Given the description of an element on the screen output the (x, y) to click on. 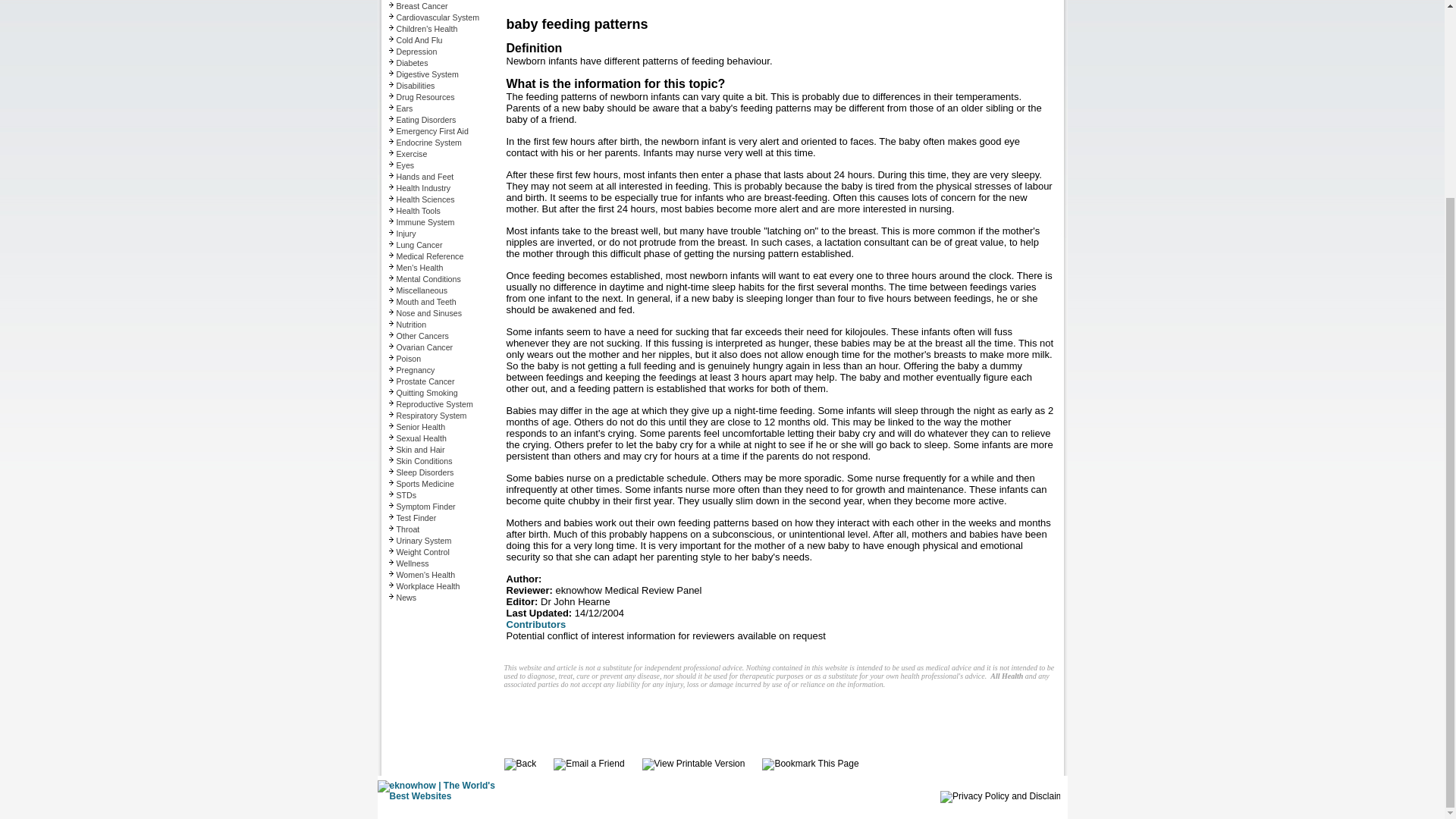
Email a Friend (588, 764)
Contributors (536, 624)
View Printable Version (693, 764)
Back (519, 764)
Bookmark This Page (810, 764)
Contributors (536, 624)
